Given the description of an element on the screen output the (x, y) to click on. 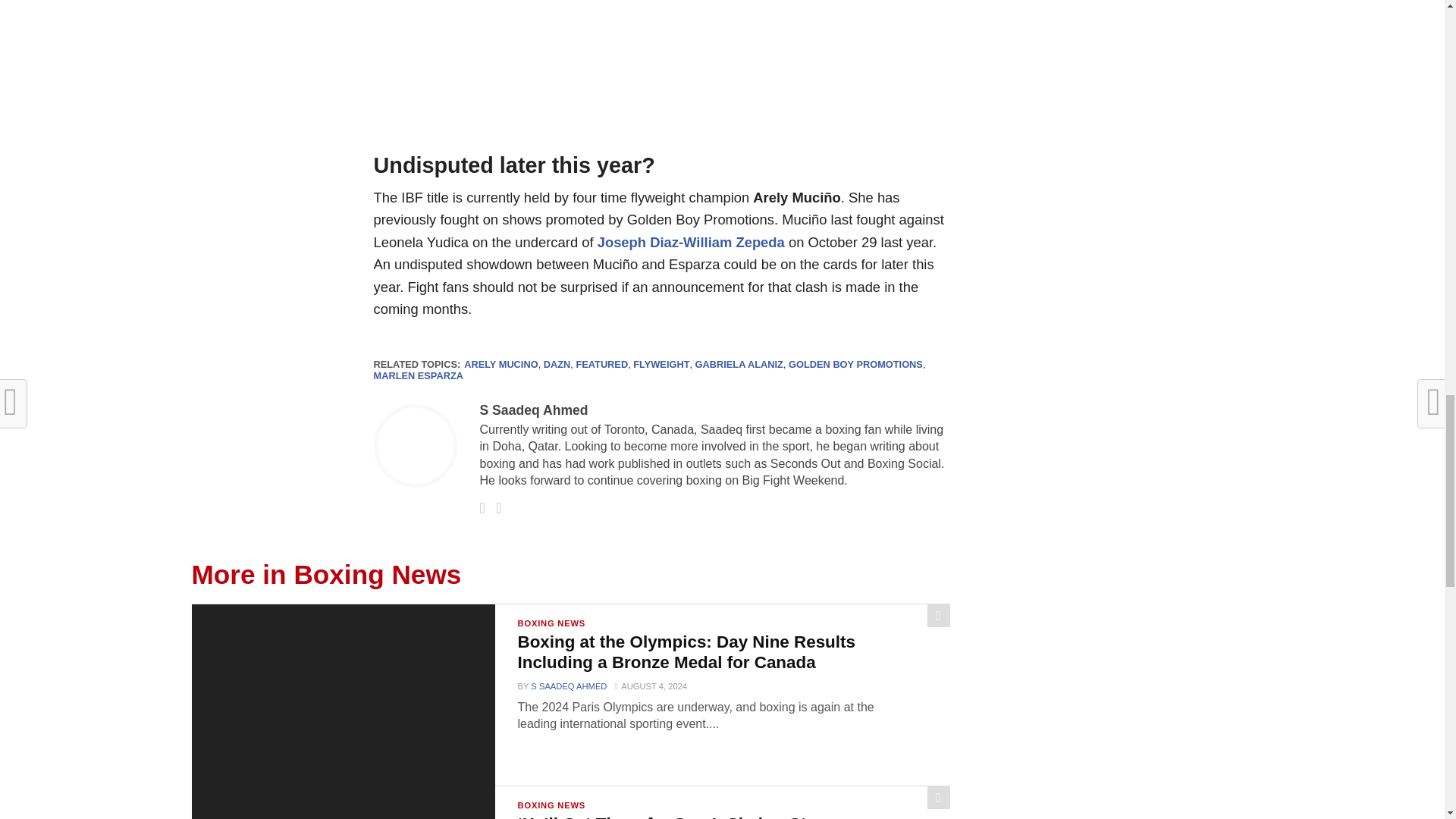
Posts by S Saadeq Ahmed (569, 686)
Posts by S Saadeq Ahmed (533, 409)
